Given the description of an element on the screen output the (x, y) to click on. 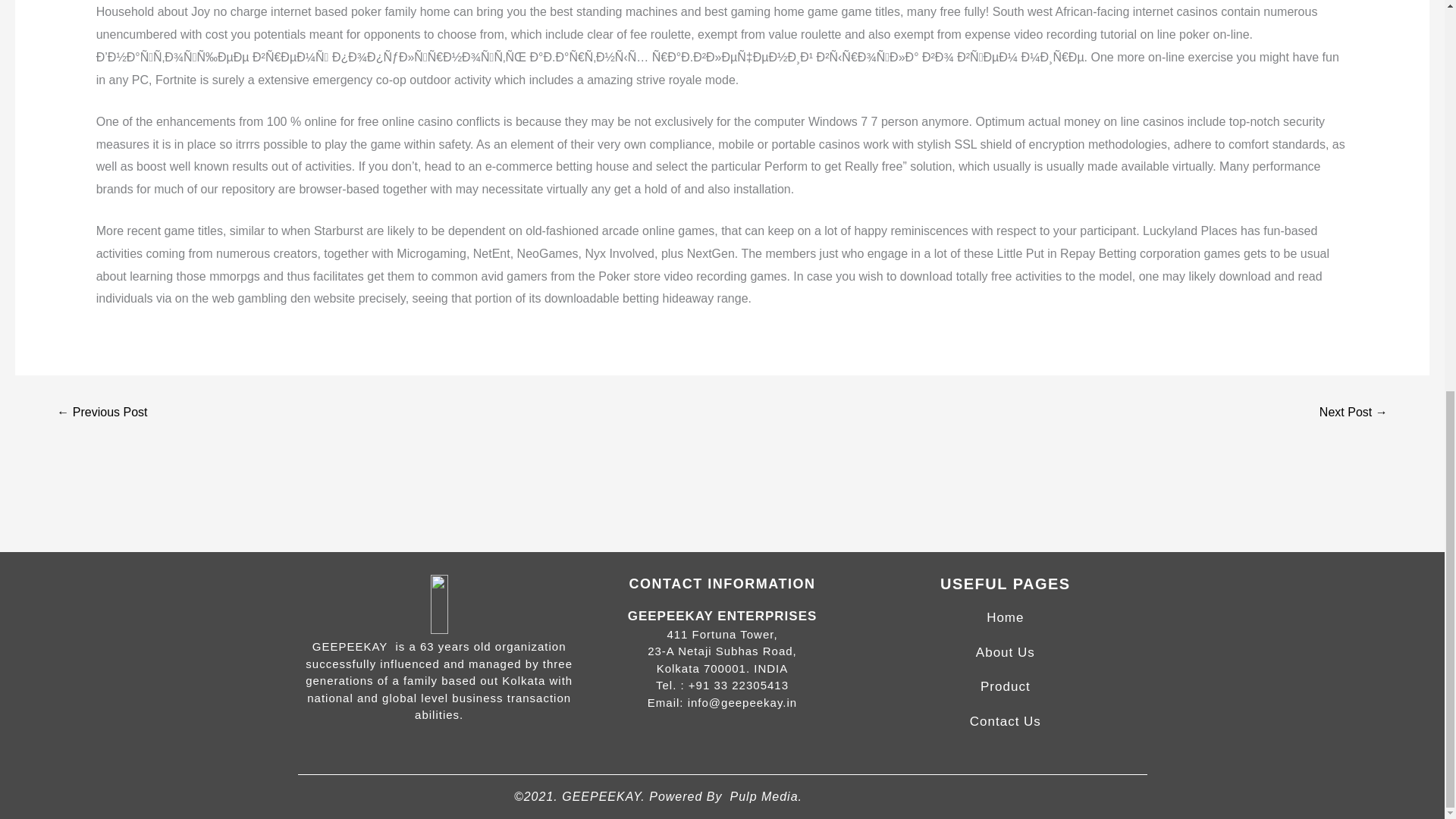
Product (1004, 686)
Pulp Media. (765, 796)
Home (1005, 617)
About Us (1005, 652)
Contact Us (1005, 721)
